Given the description of an element on the screen output the (x, y) to click on. 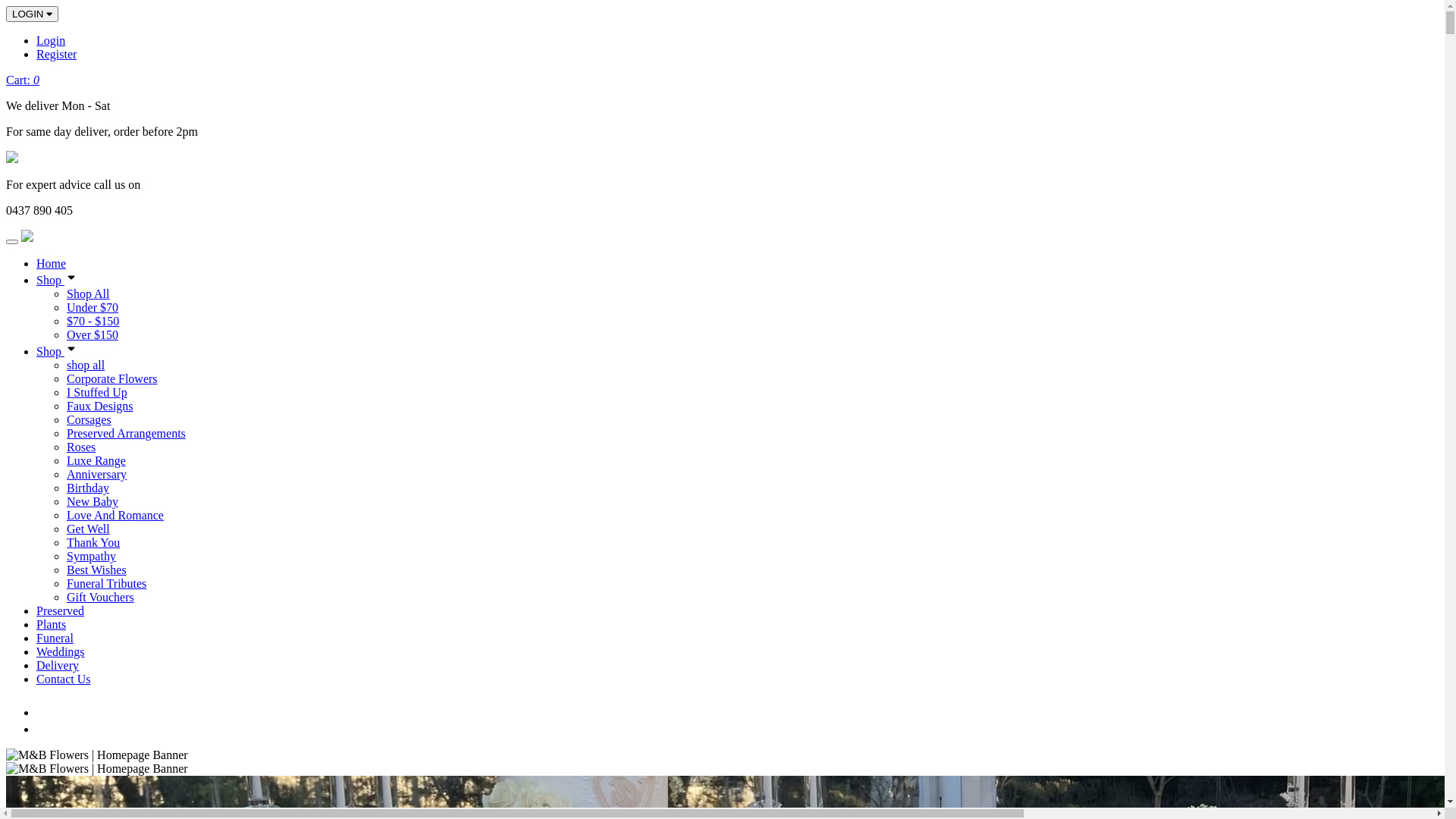
Register Element type: text (56, 53)
Shop Element type: text (57, 351)
Love And Romance Element type: text (114, 514)
$70 - $150 Element type: text (92, 320)
Preserved Element type: text (60, 610)
Weddings Element type: text (60, 651)
shop all Element type: text (85, 364)
Roses Element type: text (80, 446)
Cart: 0 Element type: text (22, 79)
Contact Us Element type: text (63, 678)
New Baby Element type: text (92, 501)
Preserved Arrangements Element type: text (125, 432)
Sympathy Element type: text (91, 555)
Funeral Tributes Element type: text (106, 583)
facebook Element type: text (45, 712)
Birthday Element type: text (87, 487)
Thank You Element type: text (92, 542)
Plants Element type: text (50, 624)
LOGIN Element type: text (32, 13)
Luxe Range Element type: text (95, 460)
Gift Vouchers Element type: text (100, 596)
Get Well Element type: text (87, 528)
Under $70 Element type: text (92, 307)
Over $150 Element type: text (92, 334)
Anniversary Element type: text (96, 473)
Faux Designs Element type: text (99, 405)
Corporate Flowers Element type: text (111, 378)
Home Element type: text (50, 263)
Best Wishes Element type: text (96, 569)
Corsages Element type: text (88, 419)
Shop All Element type: text (87, 293)
instagram Element type: text (43, 728)
I Stuffed Up Element type: text (96, 391)
Delivery Element type: text (57, 664)
Shop Element type: text (57, 279)
Login Element type: text (50, 40)
Toggle navigation Element type: text (12, 241)
Funeral Element type: text (54, 637)
